Given the description of an element on the screen output the (x, y) to click on. 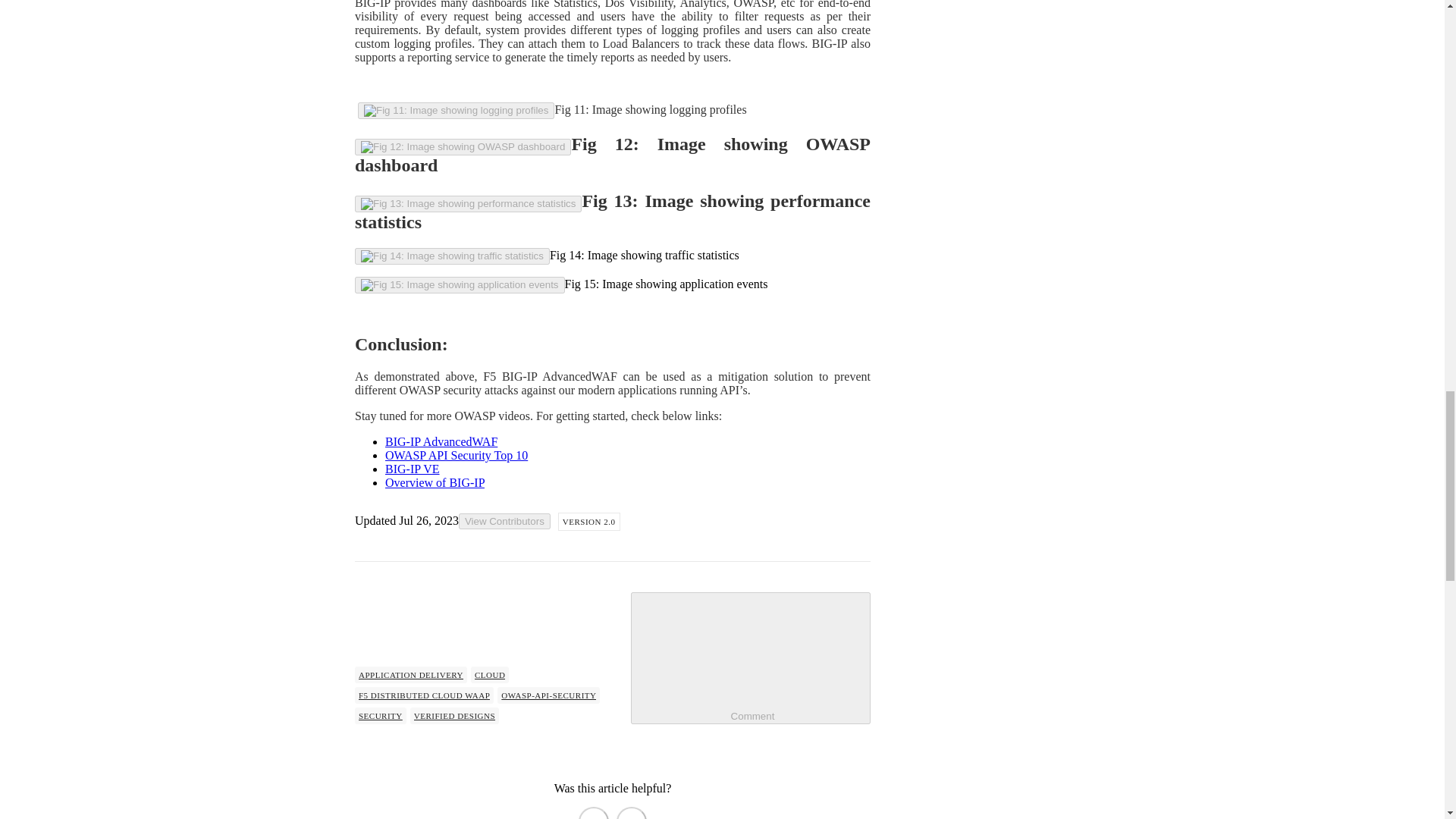
OWASP API Security Top 10 (456, 454)
July 26, 2023 at 5:13 AM (428, 520)
BIG-IP VE (412, 468)
Comment (750, 651)
BIG-IP AdvancedWAF (441, 440)
View Contributors (504, 521)
Overview of BIG-IP (434, 481)
APPLICATION DELIVERY (411, 674)
